Given the description of an element on the screen output the (x, y) to click on. 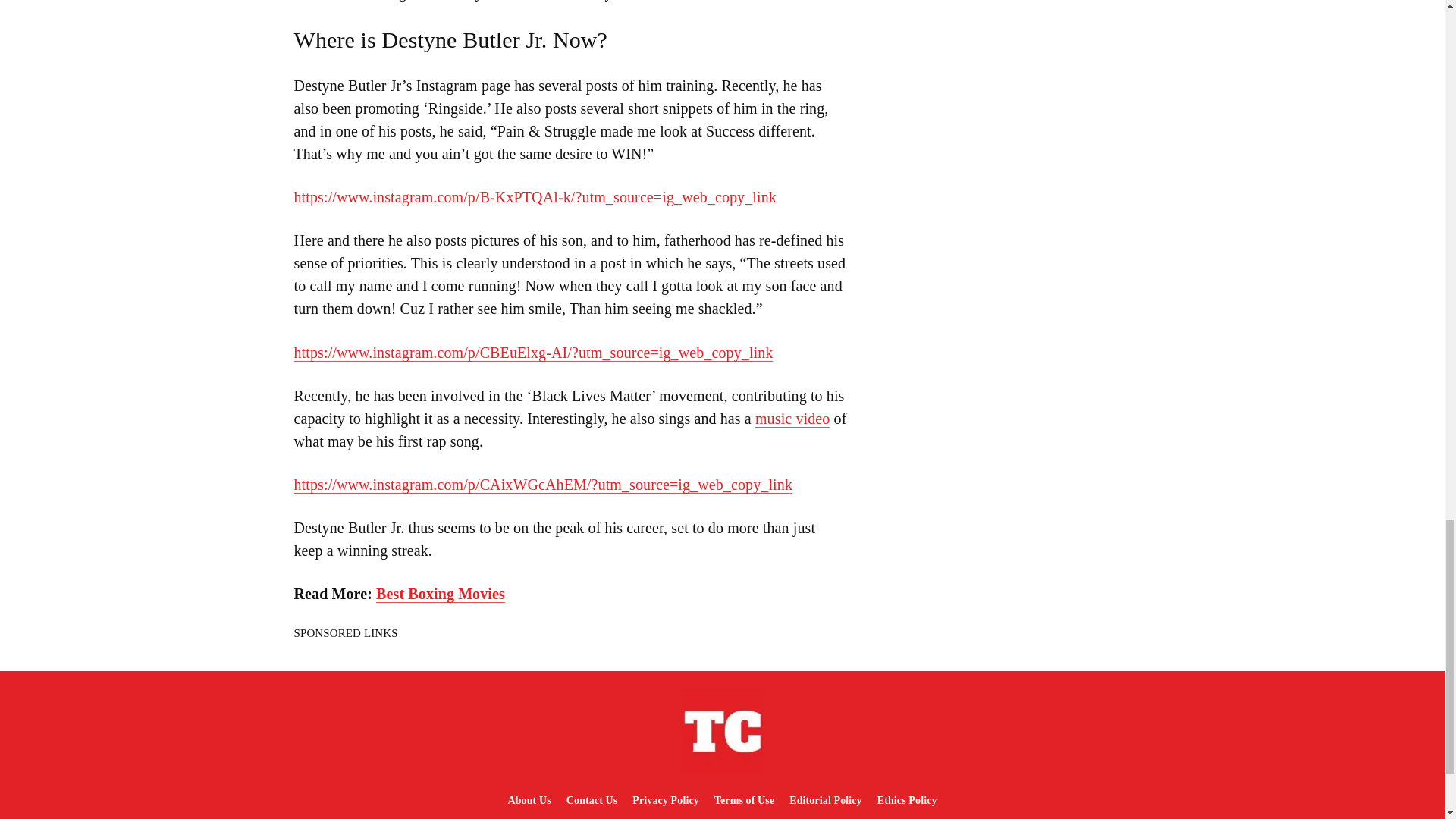
Privacy Policy (665, 799)
Terms of Use (743, 799)
Contact Us (592, 799)
Editorial Policy (825, 799)
About Us (528, 799)
music video (792, 418)
Ethics Policy (906, 799)
Best Boxing Movies (440, 593)
